Given the description of an element on the screen output the (x, y) to click on. 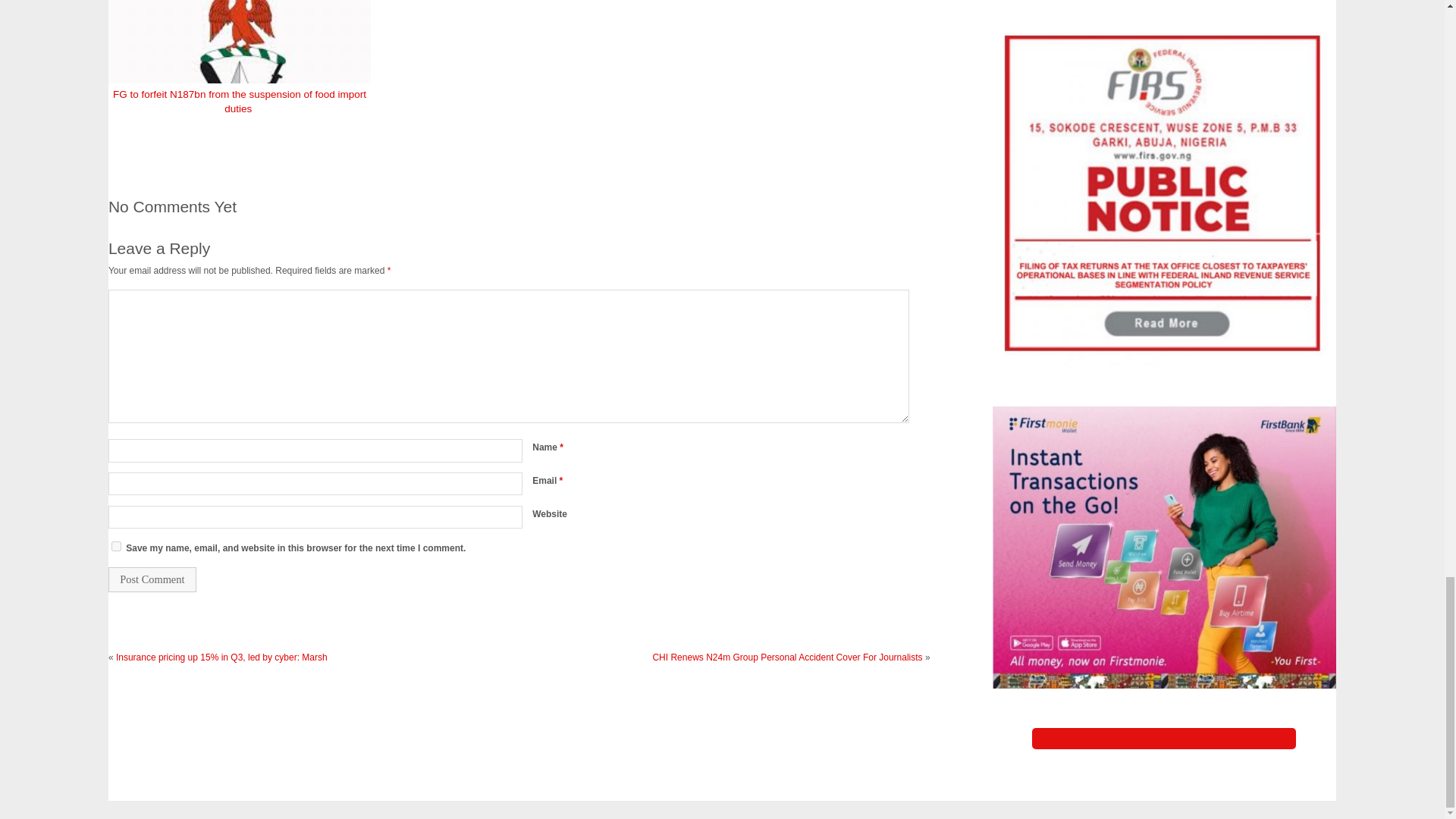
yes (116, 546)
Post Comment (151, 579)
